Given the description of an element on the screen output the (x, y) to click on. 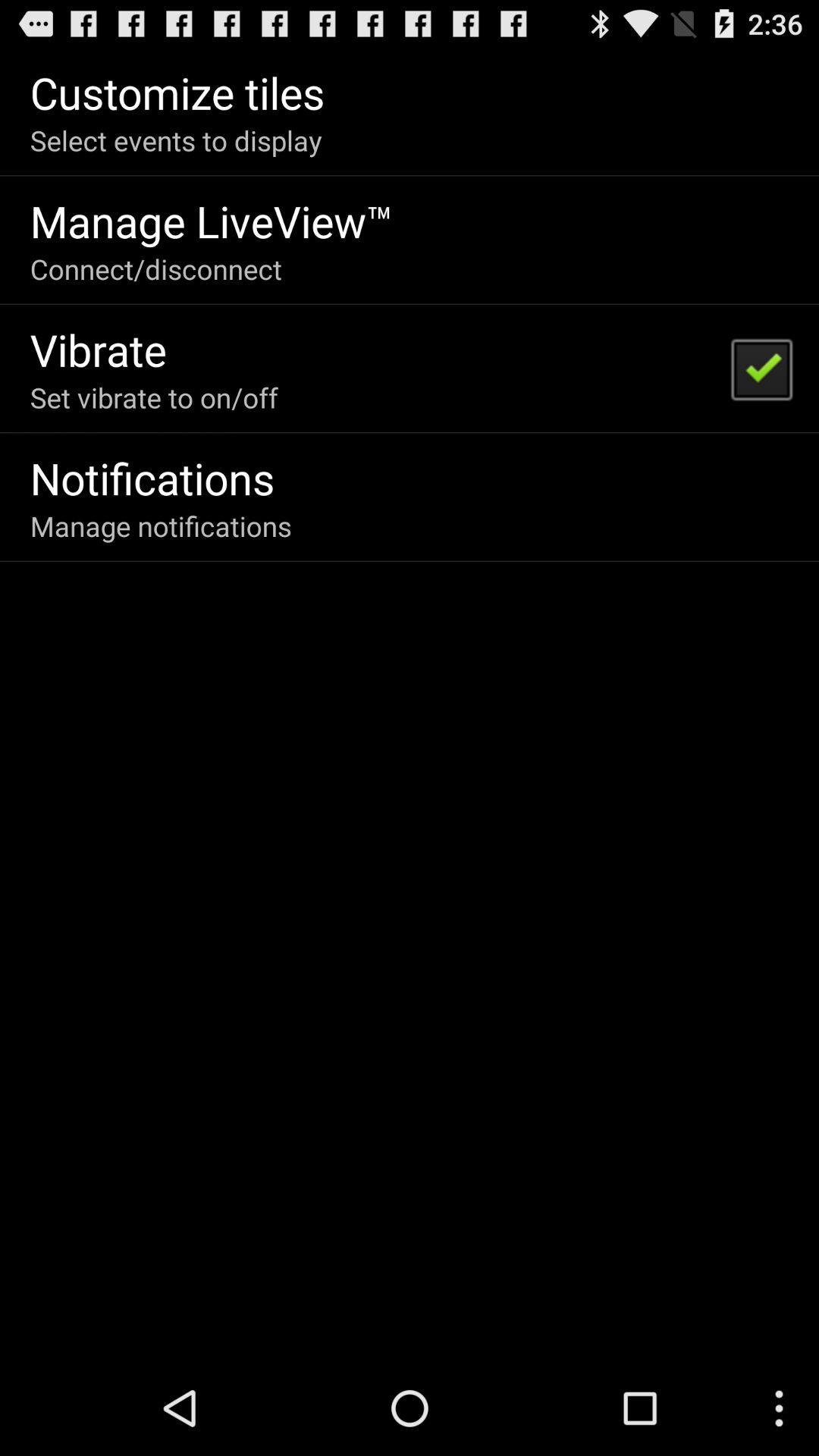
scroll to the set vibrate to app (154, 397)
